Given the description of an element on the screen output the (x, y) to click on. 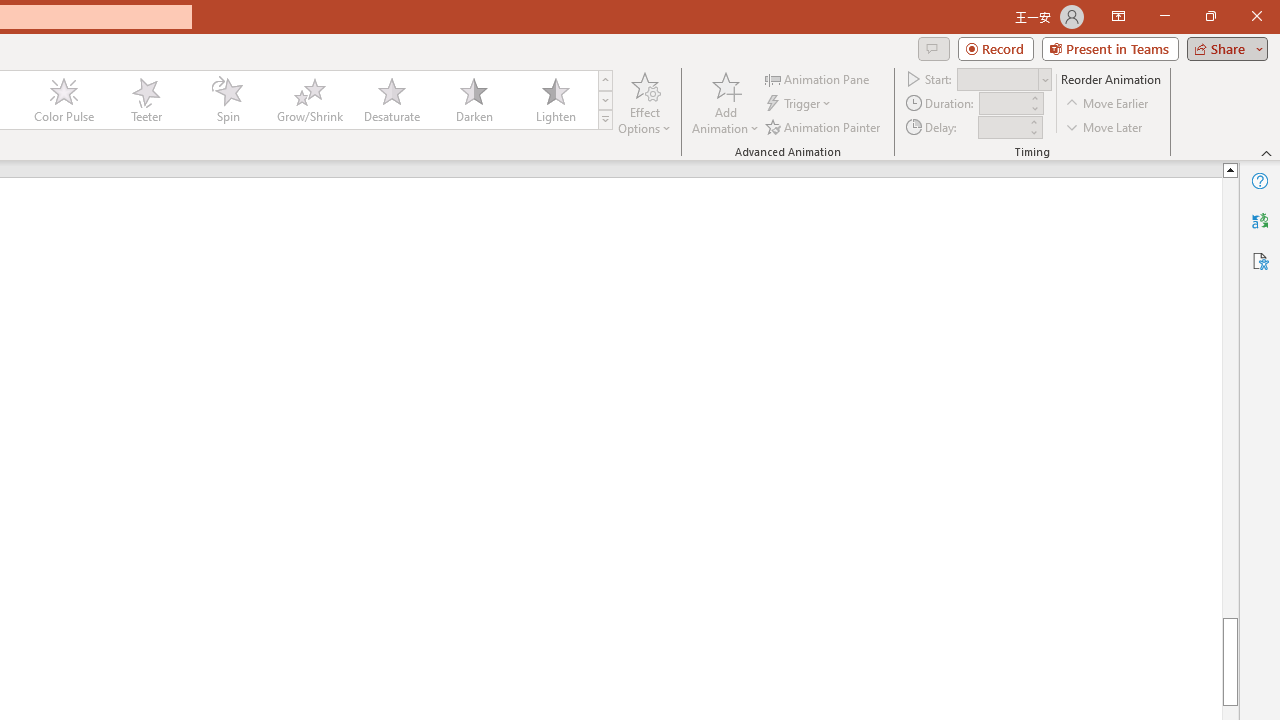
More (1033, 121)
Animation Painter (824, 126)
Start (1004, 78)
Less (1033, 132)
Animation Styles (605, 120)
Row up (605, 79)
Move Earlier (1107, 103)
Line up (1230, 169)
Animation Delay (1002, 127)
Page up (1230, 397)
Desaturate (391, 100)
